Given the description of an element on the screen output the (x, y) to click on. 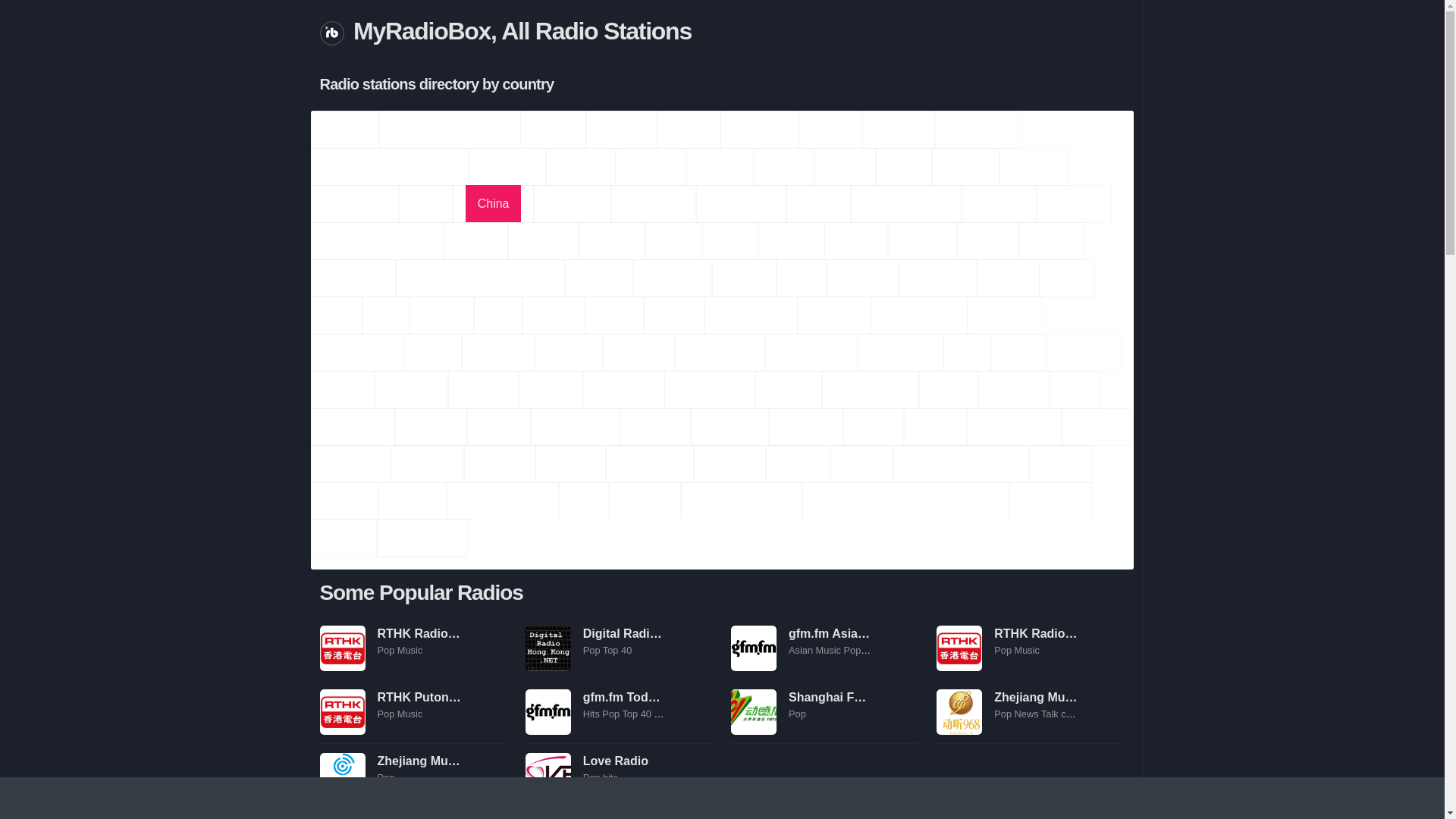
RTHK Radio 2 94.8 FM (441, 633)
gfm.fm Asia Hitz (836, 633)
Costa Rica (653, 203)
Azerbaijan (976, 128)
Cape Verde (741, 203)
gfm.fm Asia Hitz (753, 647)
Argentina (759, 128)
Armenia (621, 128)
Spain (729, 240)
China (493, 203)
